Given the description of an element on the screen output the (x, y) to click on. 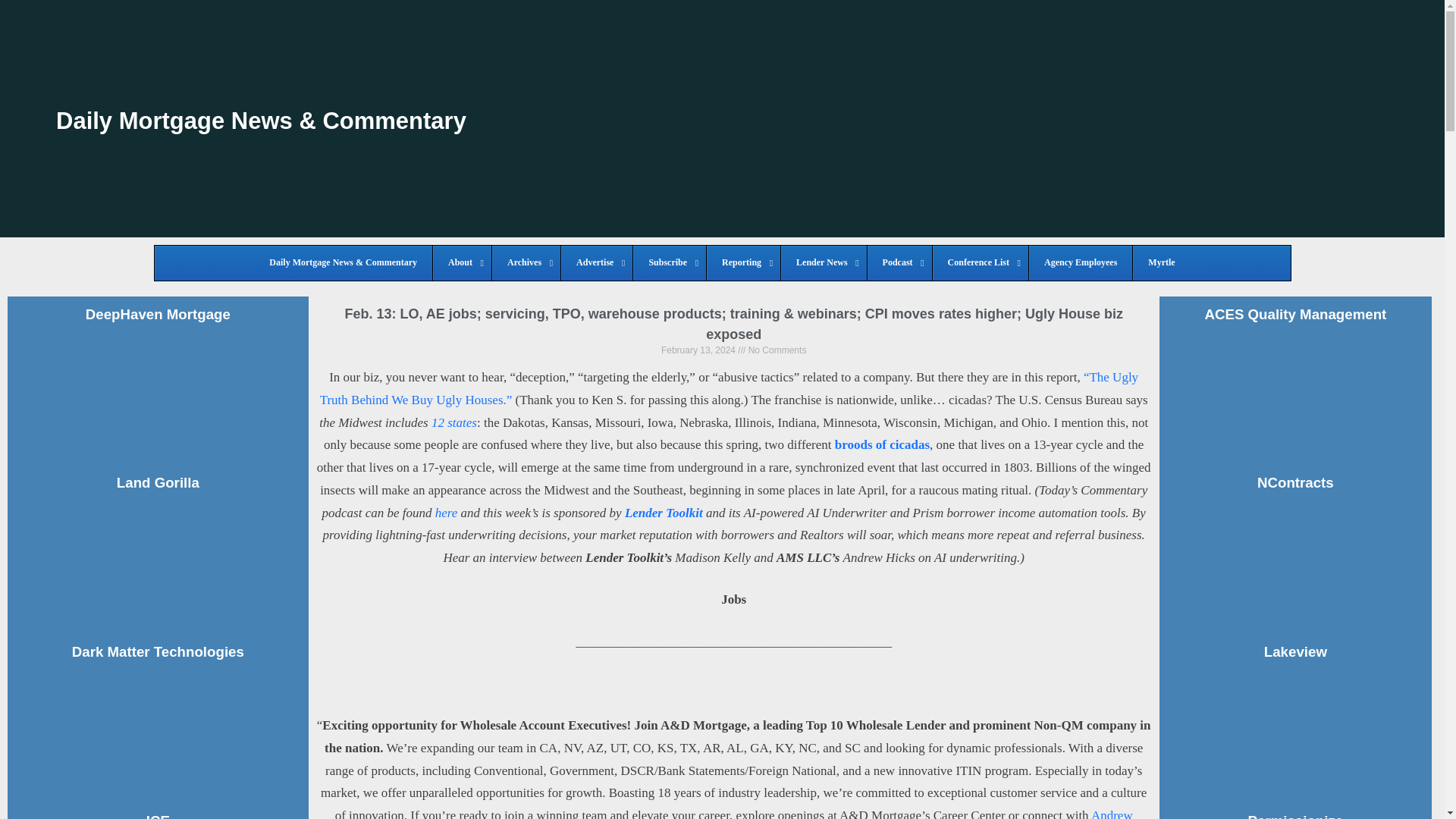
Subscribe (668, 262)
Conference List (979, 262)
Reporting (743, 262)
Agency Employees (1079, 262)
Lender News (823, 262)
DeepHaven Mortgage (157, 314)
Podcast (898, 262)
Advertise (595, 262)
Archives (526, 262)
Myrtle (1160, 262)
About (462, 262)
